Given the description of an element on the screen output the (x, y) to click on. 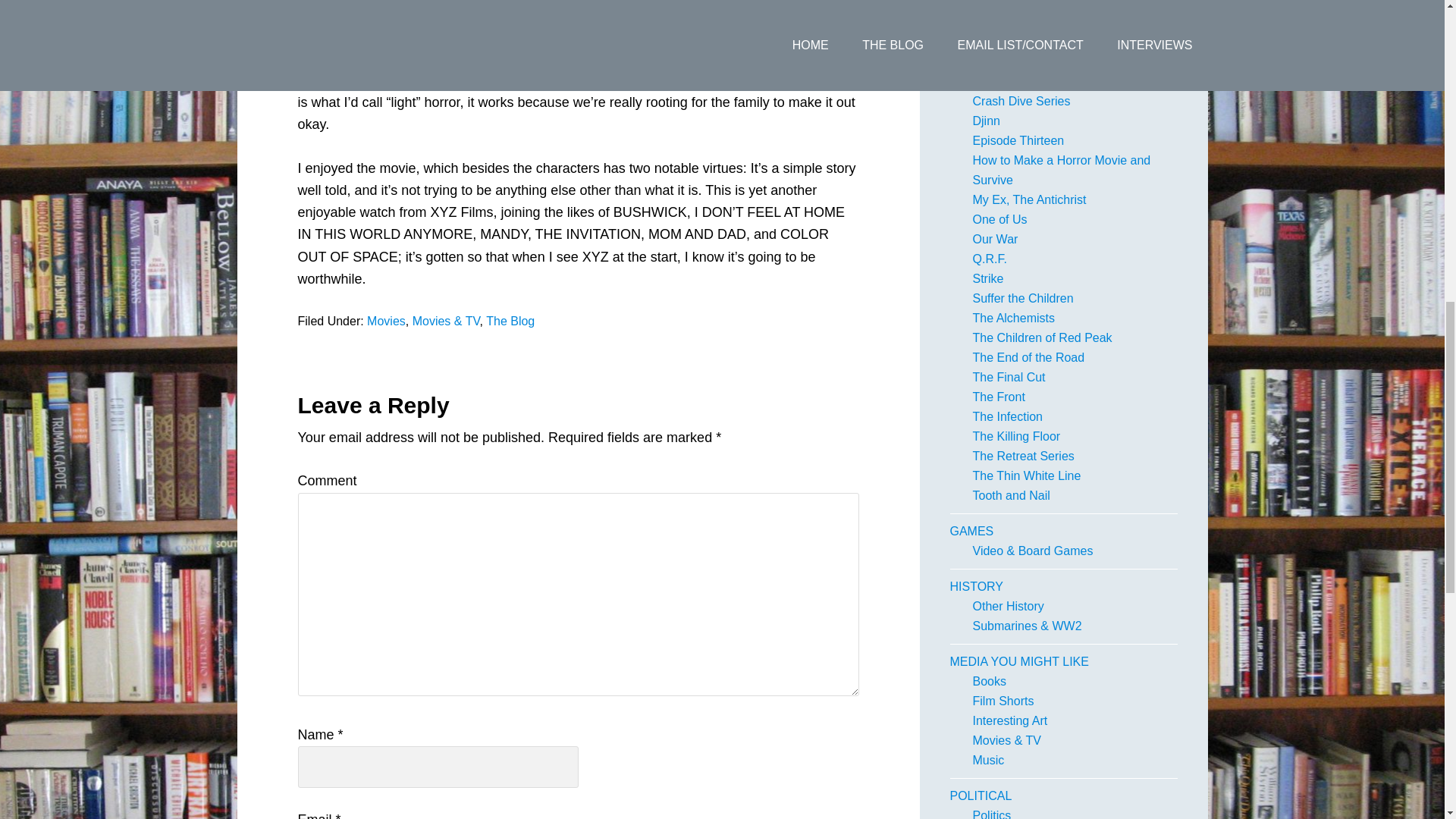
My Ex, The Antichrist (1029, 199)
How to Make a Horror Movie and Survive (1061, 169)
Aviator Series (1009, 81)
Movies (386, 320)
Comic Books (1007, 6)
CRAIG'S WORK (994, 42)
Djinn (985, 120)
The Blog (510, 320)
Armor Series (1007, 61)
Episode Thirteen (1018, 140)
